Given the description of an element on the screen output the (x, y) to click on. 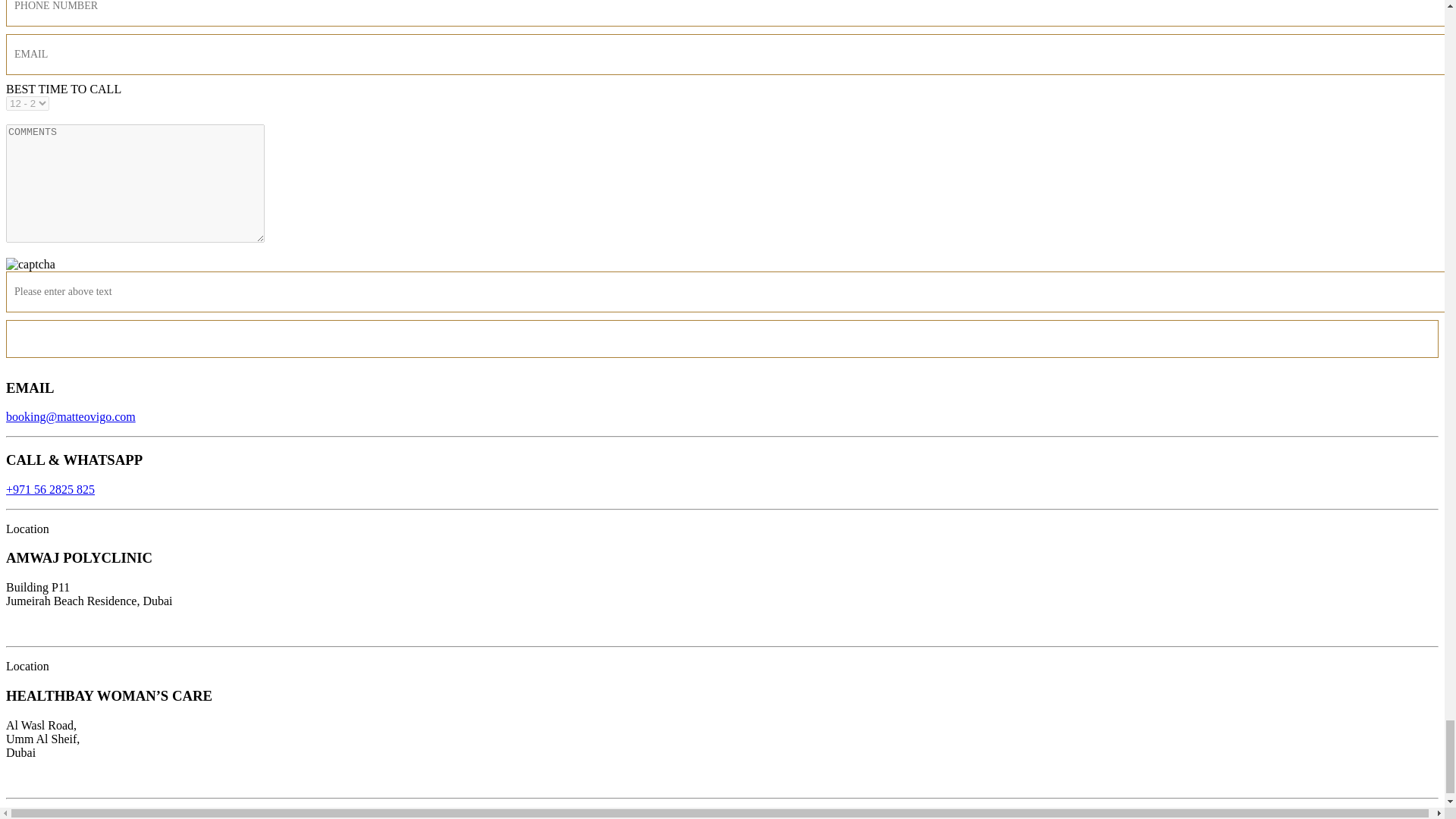
CALL ME (721, 338)
